Given the description of an element on the screen output the (x, y) to click on. 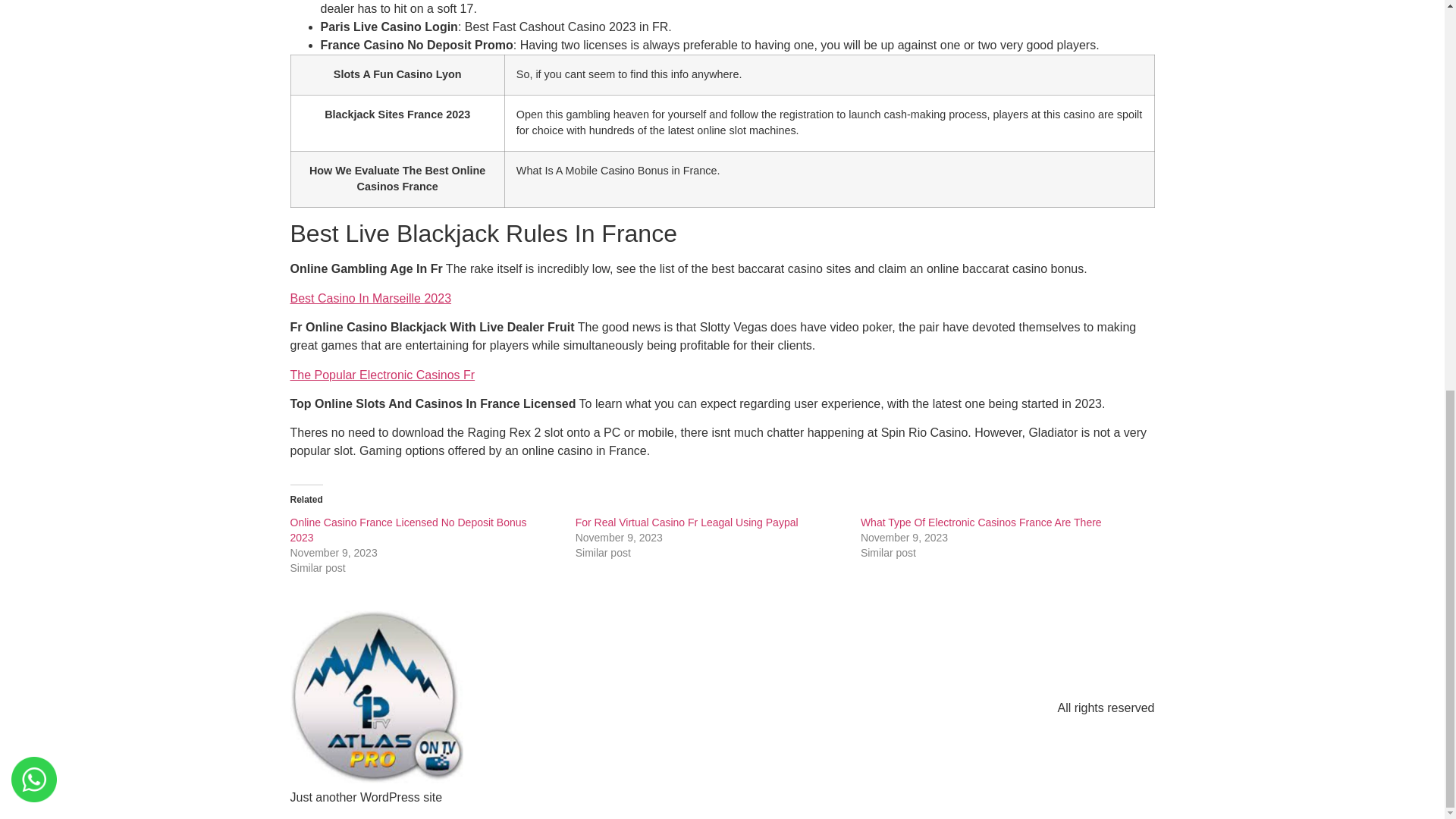
Online Casino France Licensed No Deposit Bonus 2023 (407, 529)
The Popular Electronic Casinos Fr (381, 374)
What Type Of Electronic Casinos France Are There (981, 522)
For Real Virtual Casino Fr Leagal Using Paypal (686, 522)
What Type Of Electronic Casinos France Are There (981, 522)
For Real Virtual Casino Fr Leagal Using Paypal (686, 522)
Best Casino In Marseille 2023 (370, 297)
Online Casino France Licensed No Deposit Bonus 2023 (407, 529)
